Given the description of an element on the screen output the (x, y) to click on. 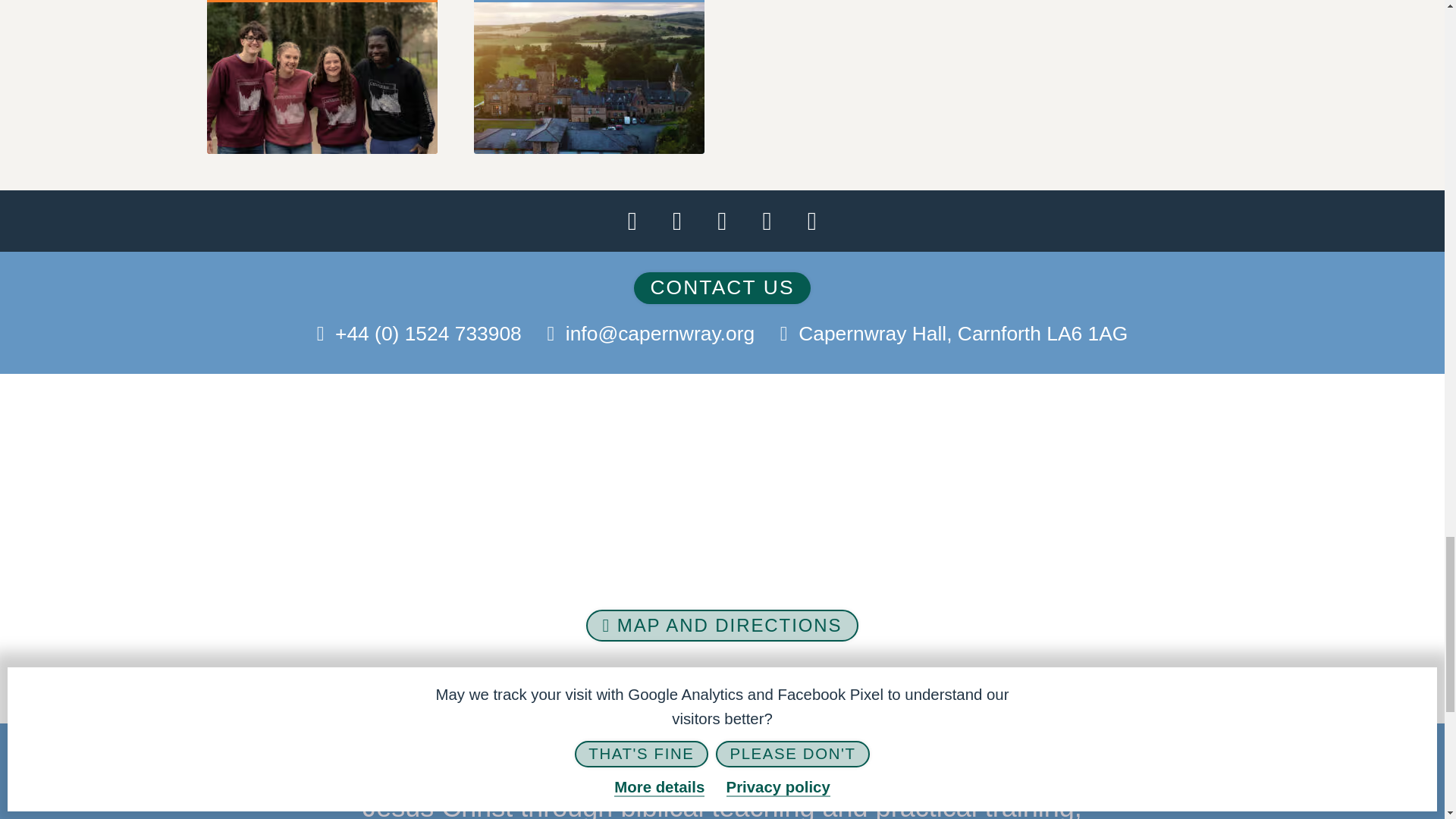
Write an email (660, 333)
